Given the description of an element on the screen output the (x, y) to click on. 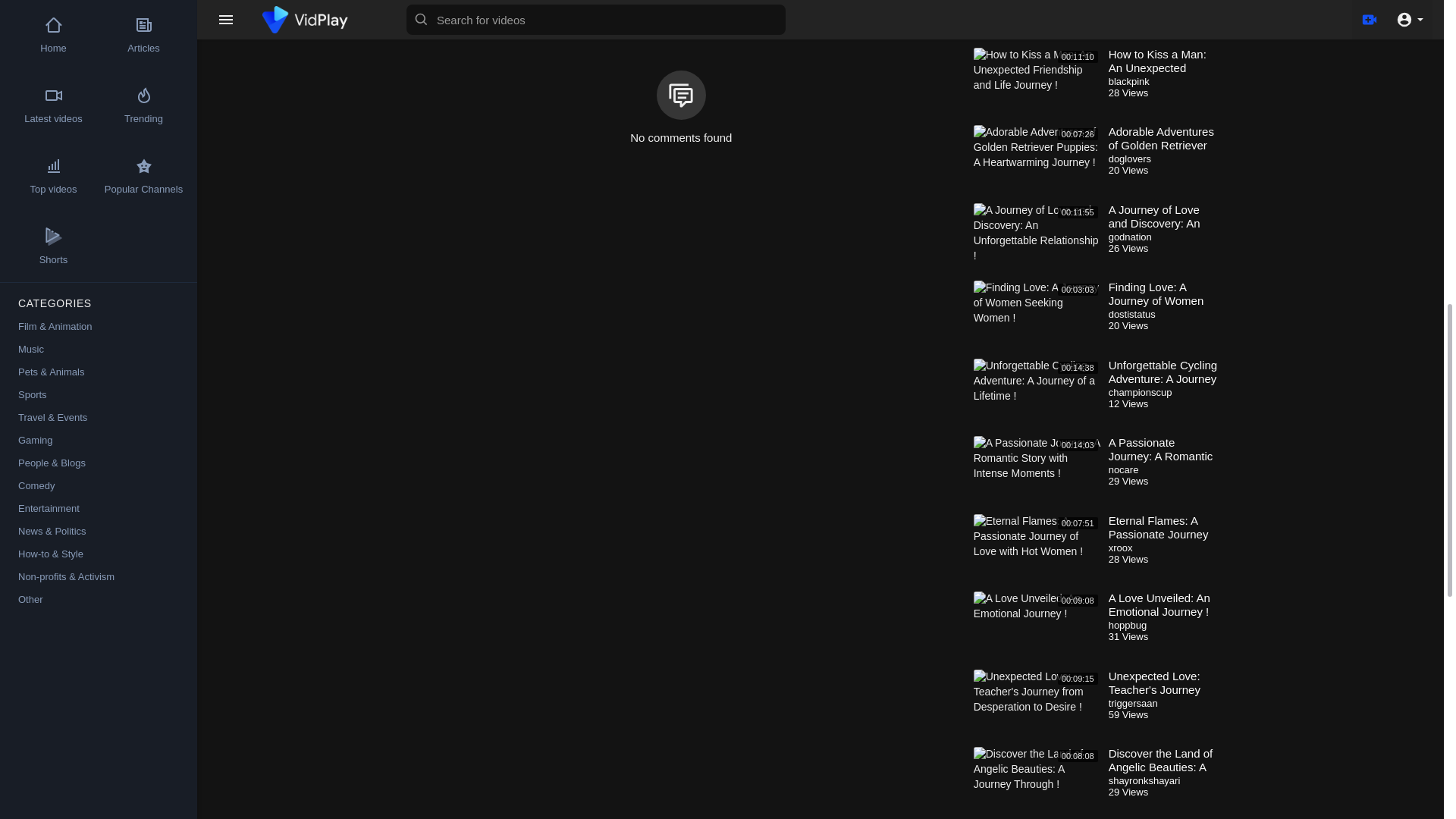
00:03:03 (1037, 316)
00:07:26 (1037, 161)
00:14:38 (1037, 394)
00:14:03 (1037, 471)
00:12:52 (1037, 20)
